Given the description of an element on the screen output the (x, y) to click on. 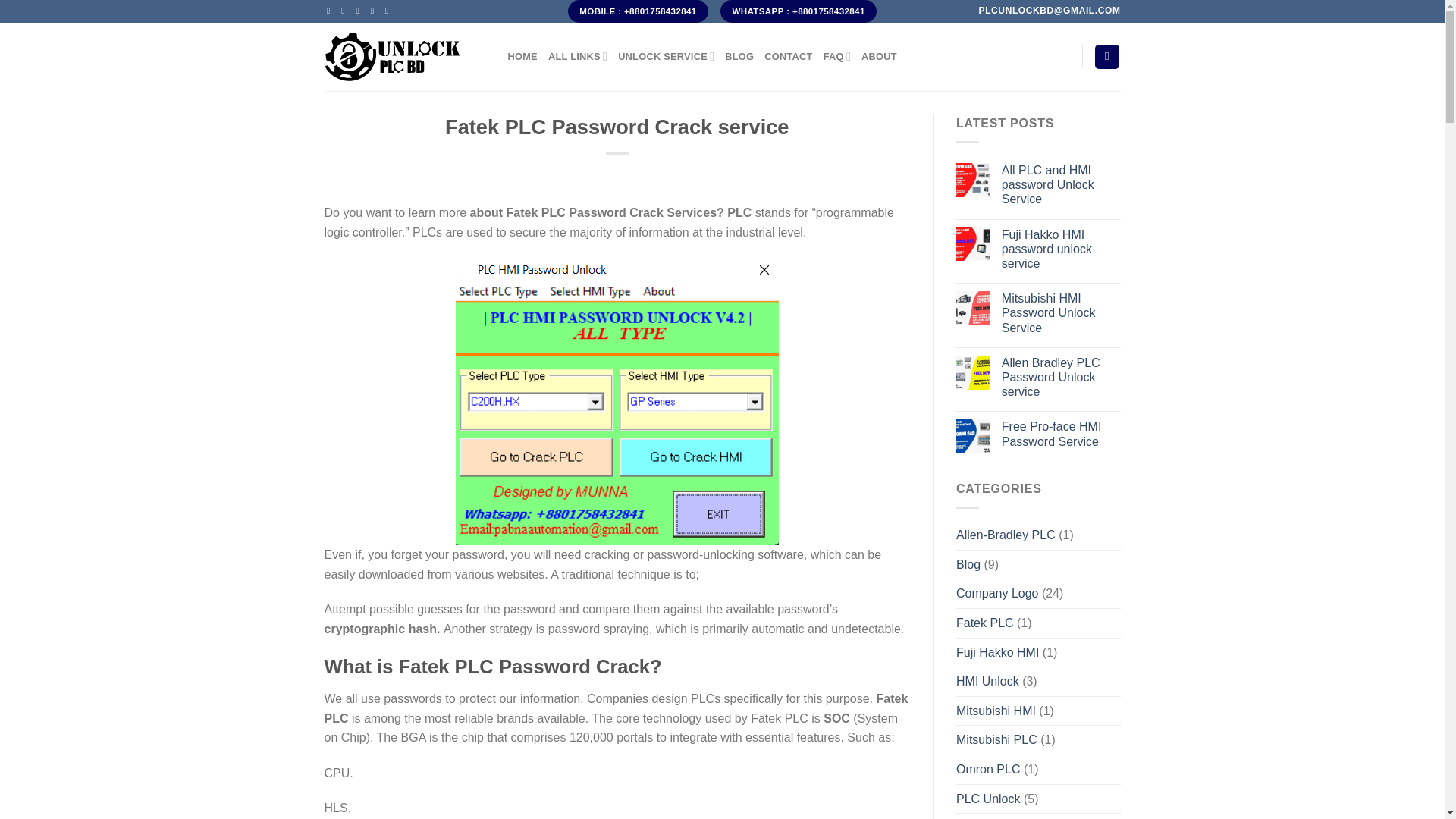
Mitsubishi HMI Password Unlock Service (1061, 312)
PLC unlock and Repair Sevices (404, 56)
HOME (522, 56)
ABOUT (878, 56)
FAQ (837, 56)
BLOG (739, 56)
UNLOCK SERVICE (665, 56)
Fuji Hakko HMI password unlock service (1061, 249)
Allen Bradley PLC Password Unlock service (1061, 377)
CONTACT (788, 56)
